Given the description of an element on the screen output the (x, y) to click on. 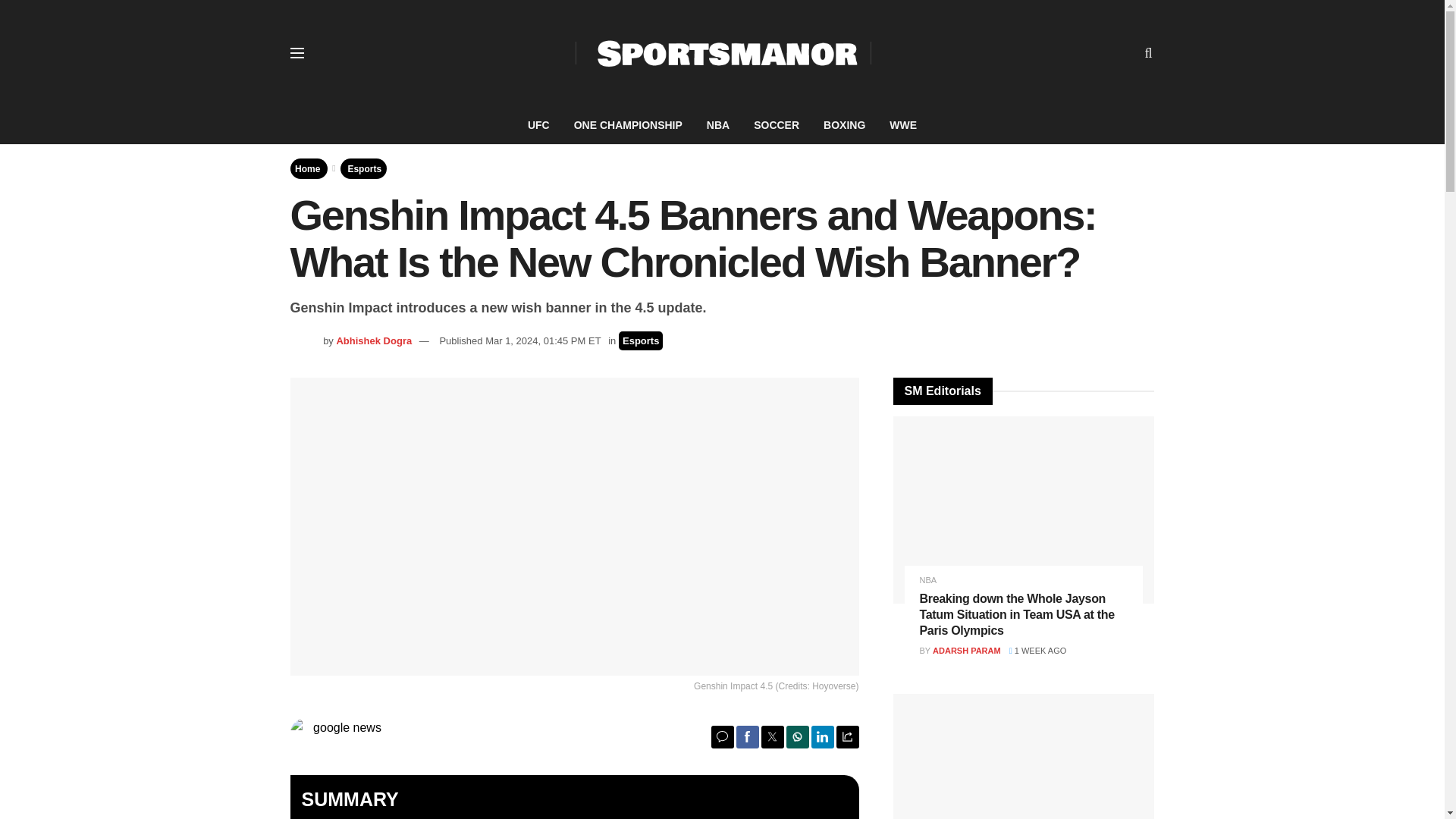
WWE (902, 125)
Home (307, 167)
Esports (640, 340)
Published Mar 1, 2024, 01:45 PM ET (519, 340)
NBA (717, 125)
Esports (364, 167)
ONE CHAMPIONSHIP (628, 125)
BOXING (843, 125)
